Given the description of an element on the screen output the (x, y) to click on. 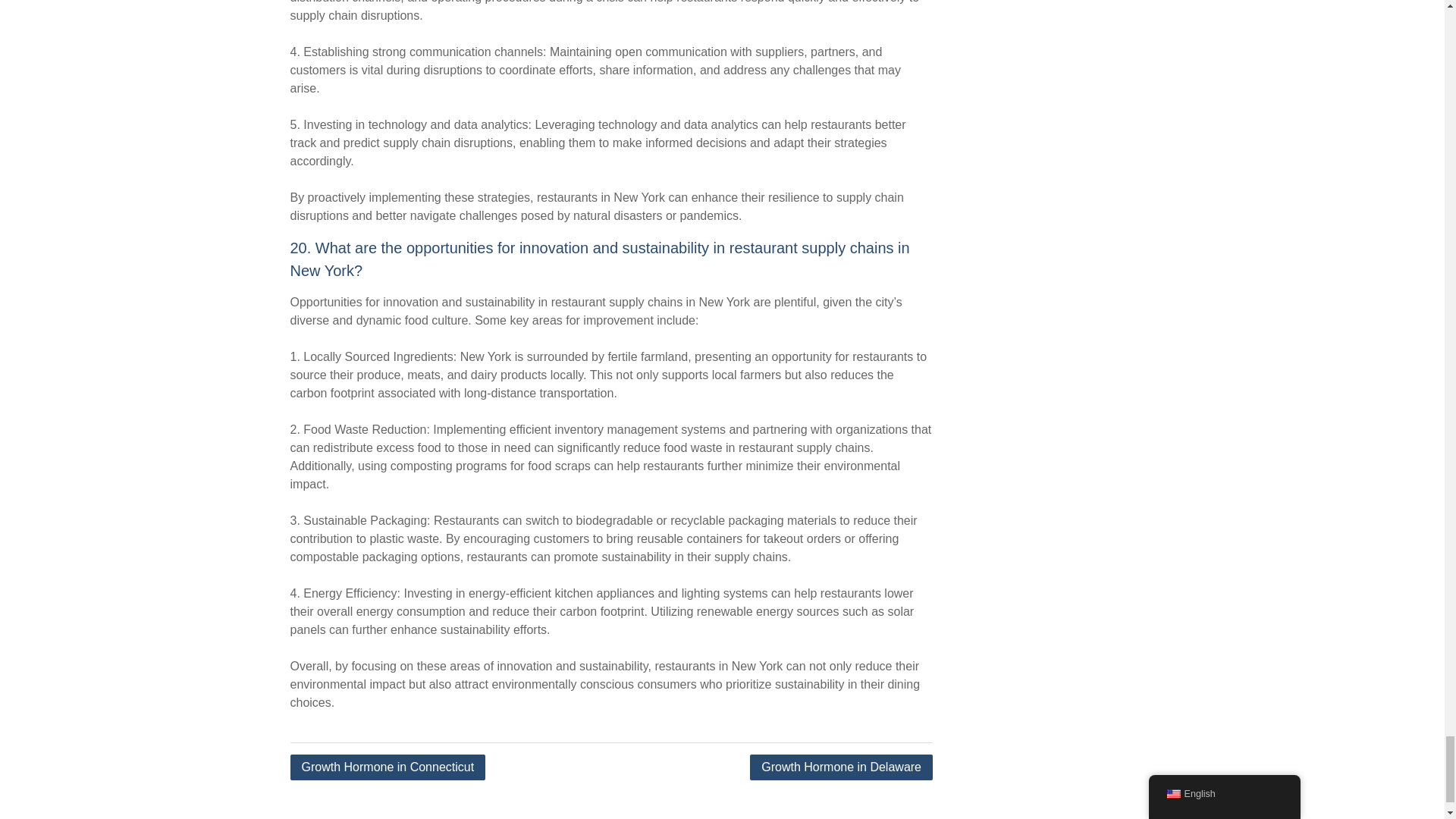
Growth Hormone in Delaware (841, 767)
Growth Hormone in Connecticut (386, 767)
